Given the description of an element on the screen output the (x, y) to click on. 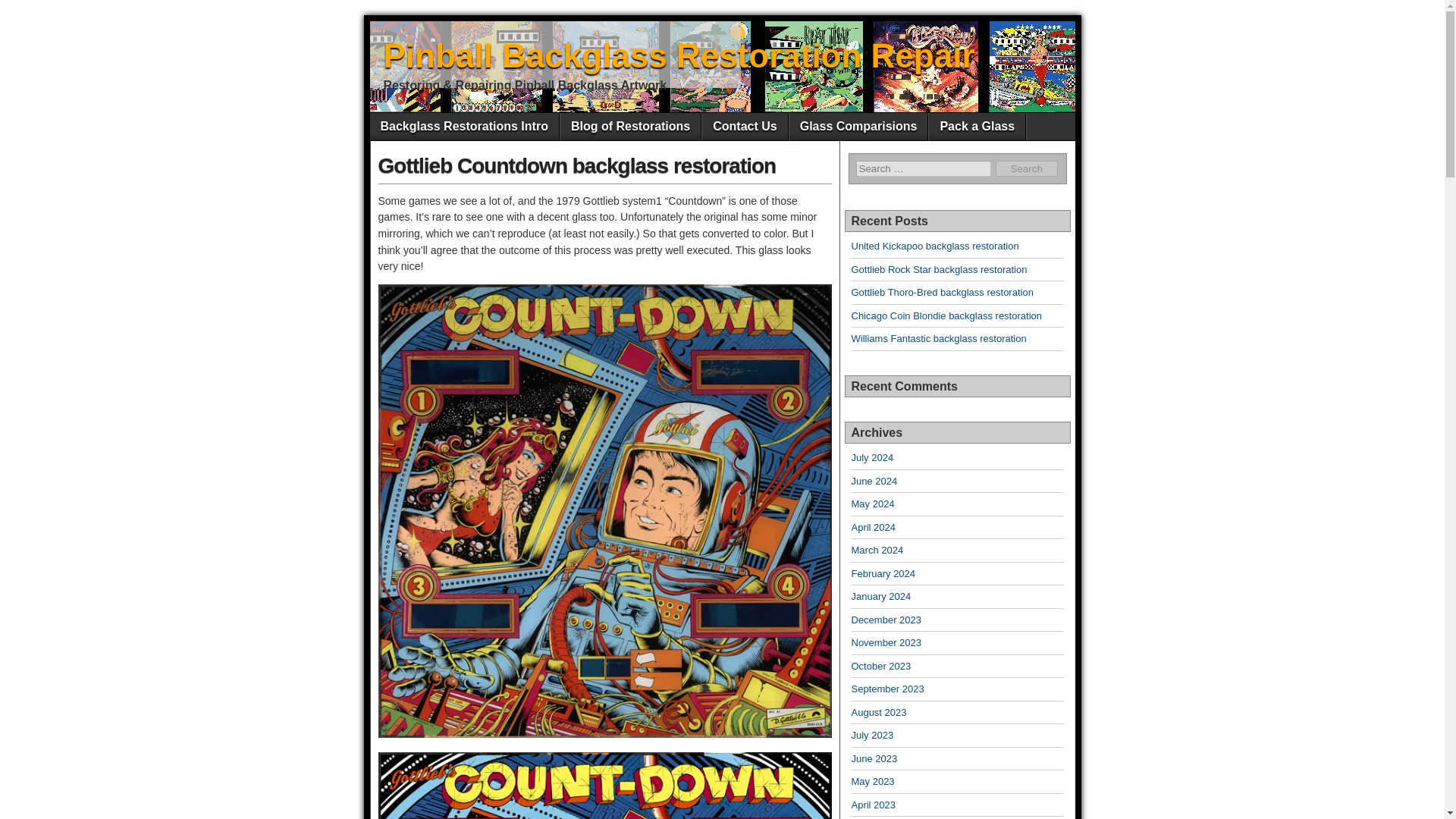
November 2023 (885, 642)
Search (1026, 168)
July 2024 (871, 457)
December 2023 (885, 619)
Chicago Coin Blondie backglass restoration (945, 315)
Gottlieb Rock Star backglass restoration (938, 269)
Blog of Restorations (630, 126)
March 2024 (876, 550)
May 2023 (871, 781)
Gottlieb Thoro-Bred backglass restoration (941, 292)
October 2023 (880, 665)
Contact Us (744, 126)
July 2023 (871, 735)
August 2023 (877, 712)
April 2023 (872, 804)
